Given the description of an element on the screen output the (x, y) to click on. 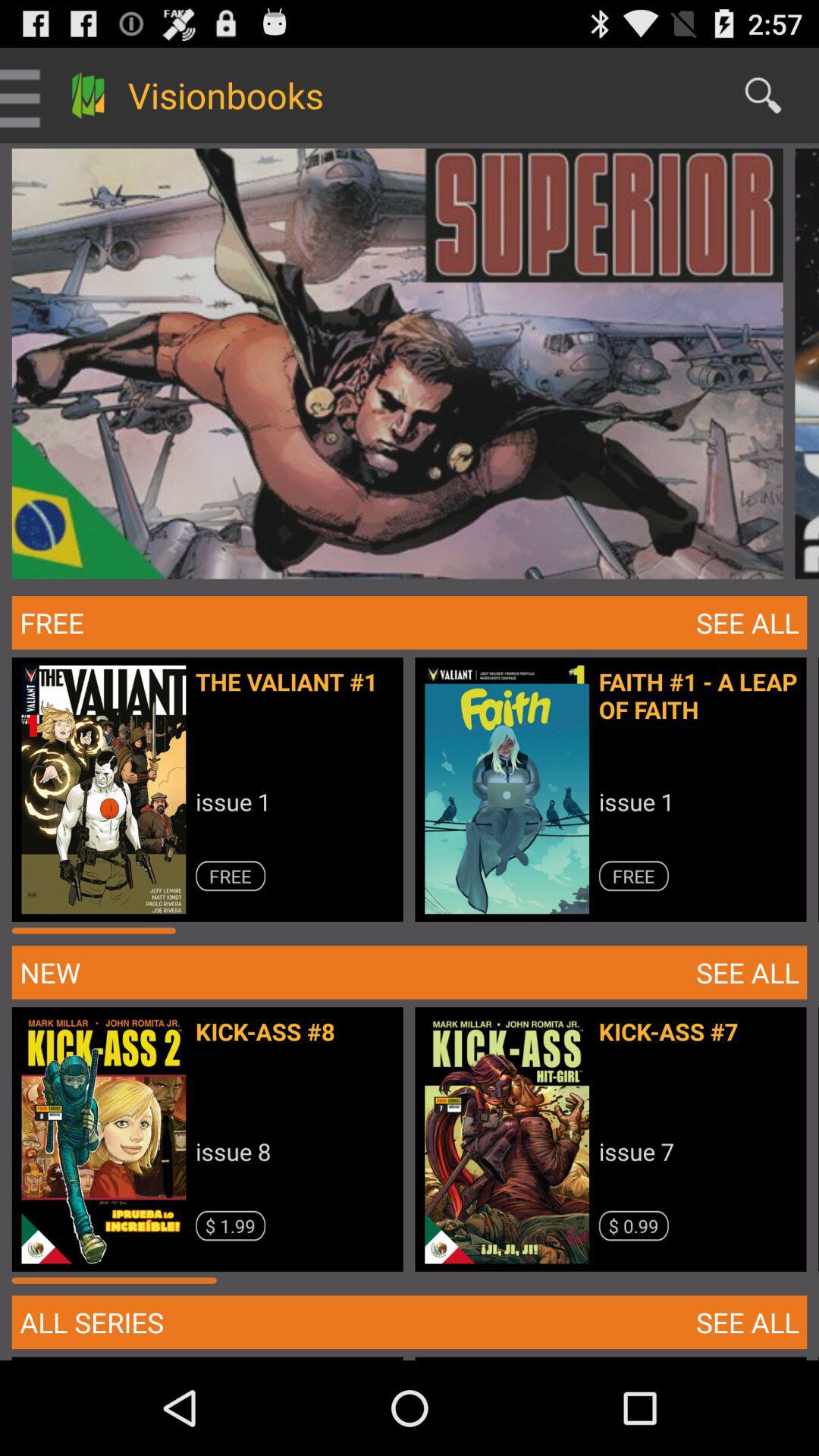
press icon next to visionbooks icon (763, 95)
